Given the description of an element on the screen output the (x, y) to click on. 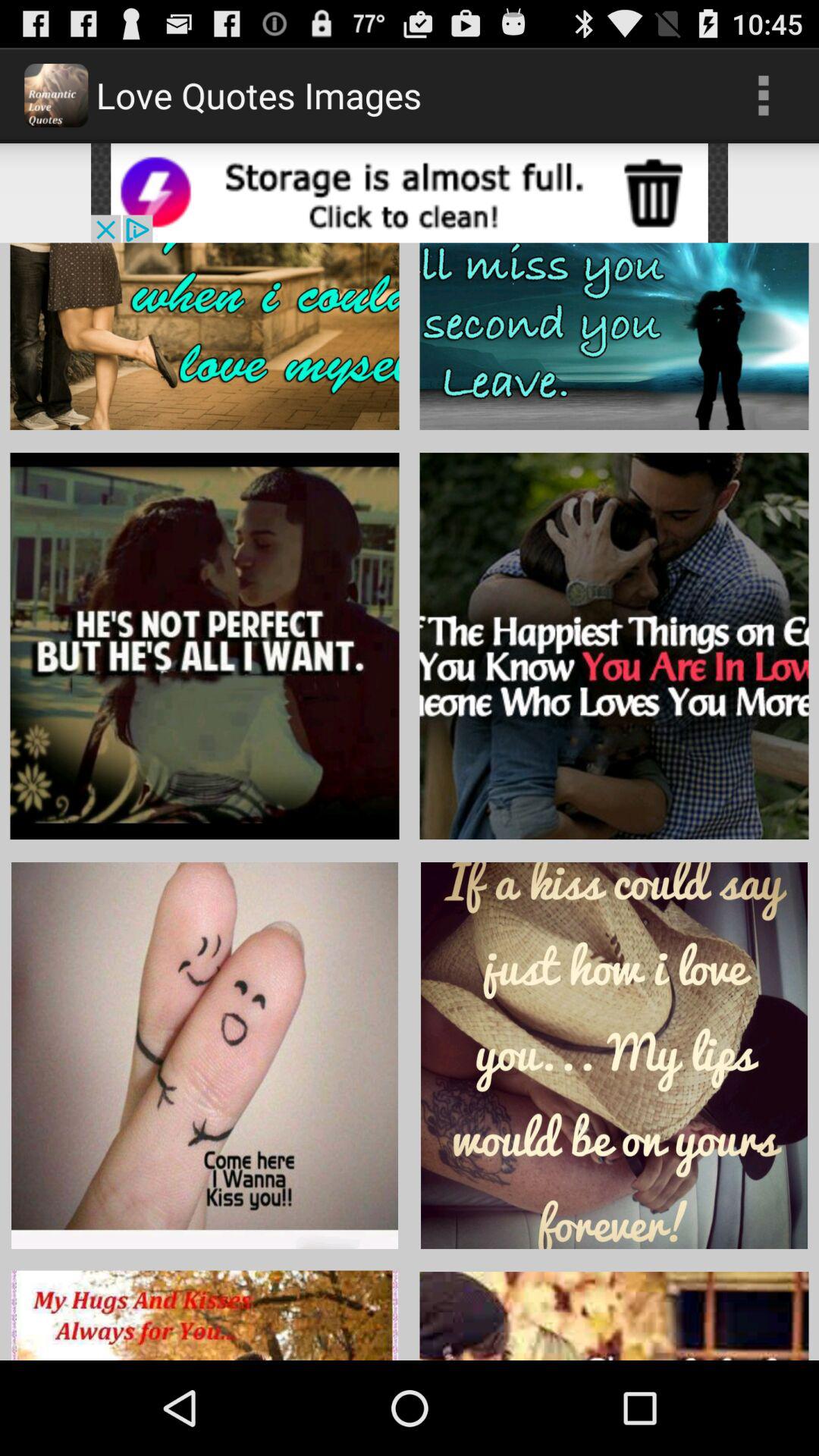
open advertisement (409, 192)
